Given the description of an element on the screen output the (x, y) to click on. 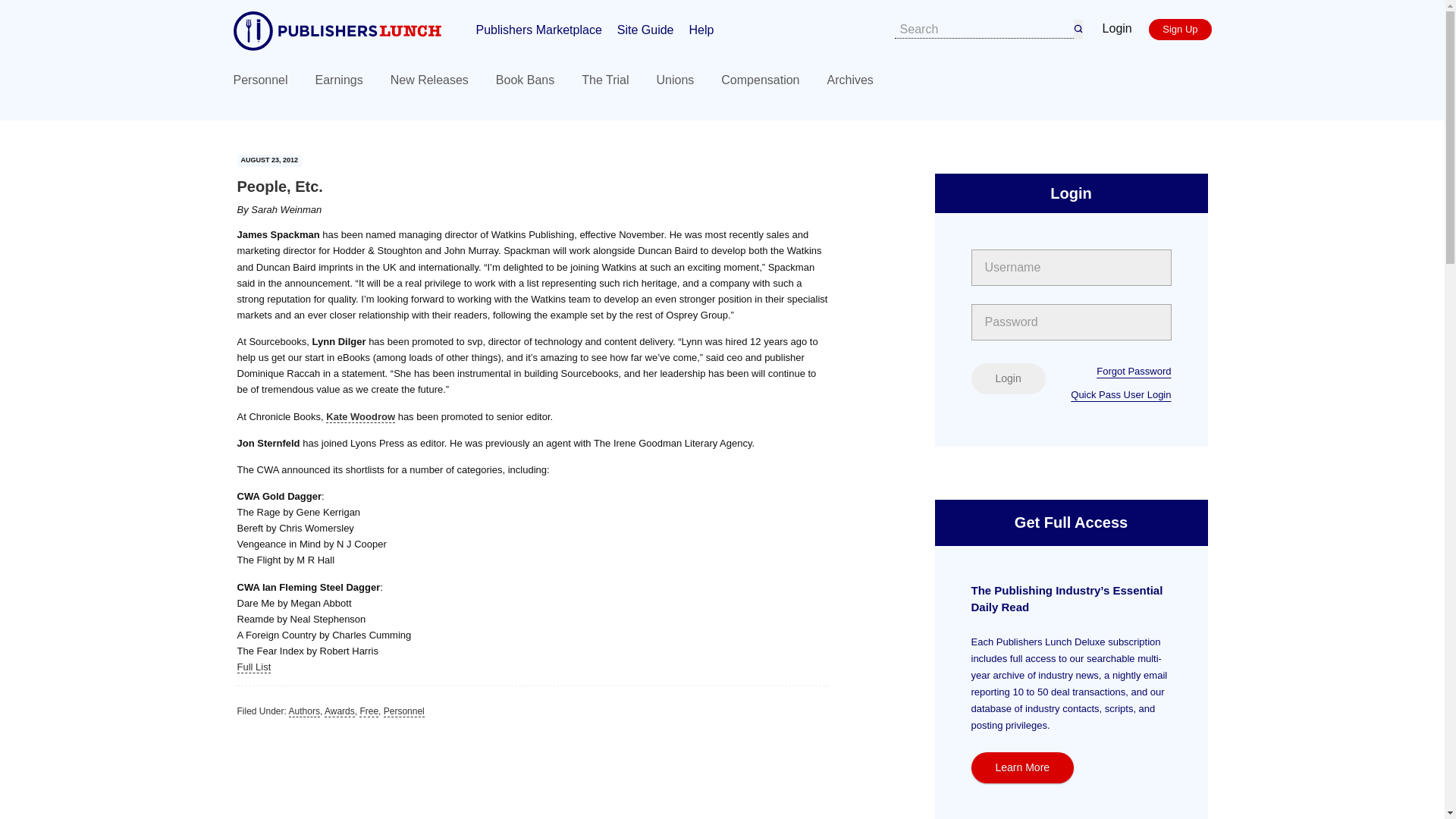
Login (1008, 378)
Authors (304, 711)
Help (701, 29)
Awards (339, 711)
Free (368, 711)
Kate Woodrow (360, 417)
Login (1117, 28)
Sign Up (1179, 29)
Publishers Marketplace (539, 29)
New Releases (429, 79)
